Given the description of an element on the screen output the (x, y) to click on. 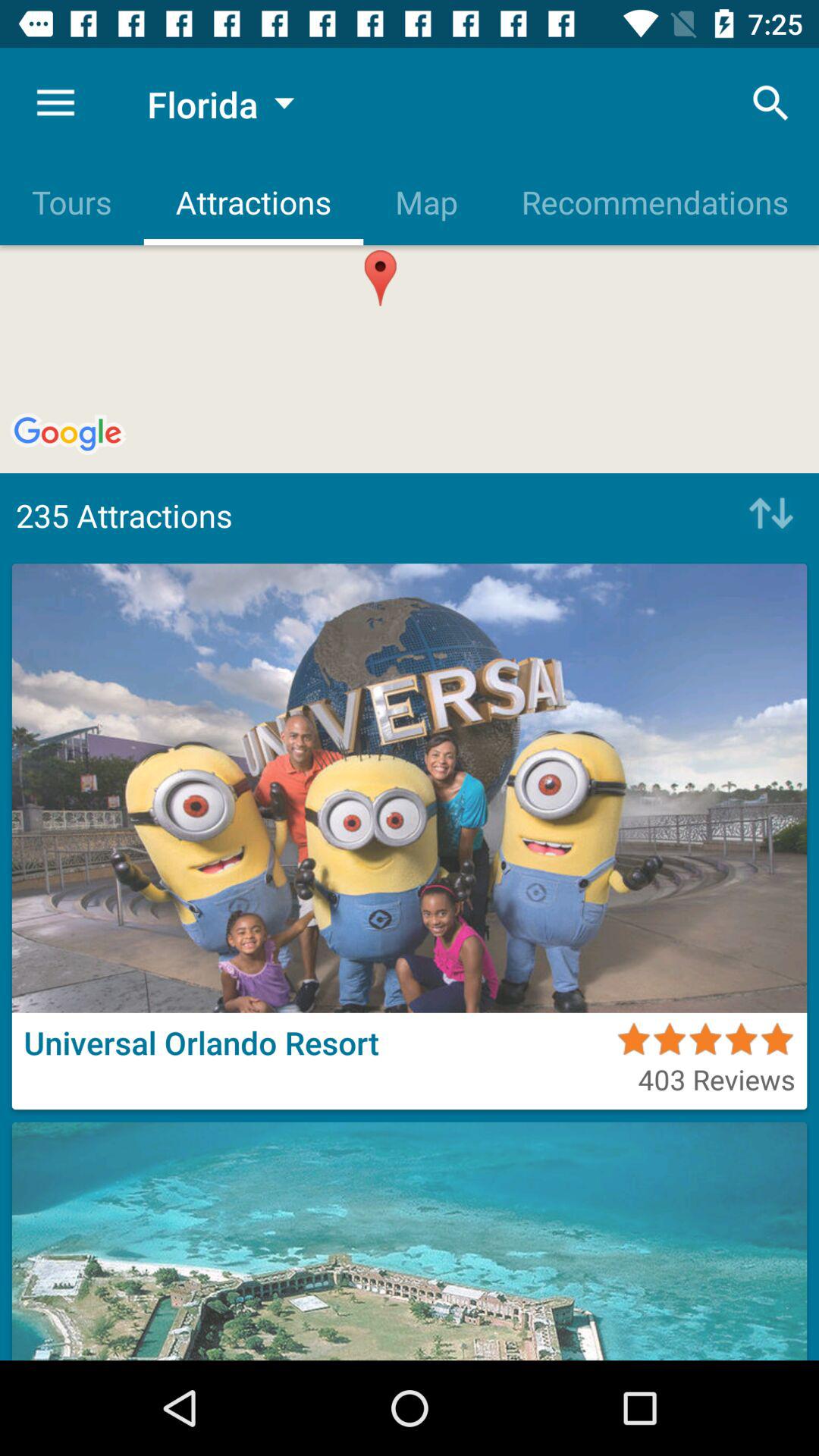
sort by certain specifications (767, 515)
